Given the description of an element on the screen output the (x, y) to click on. 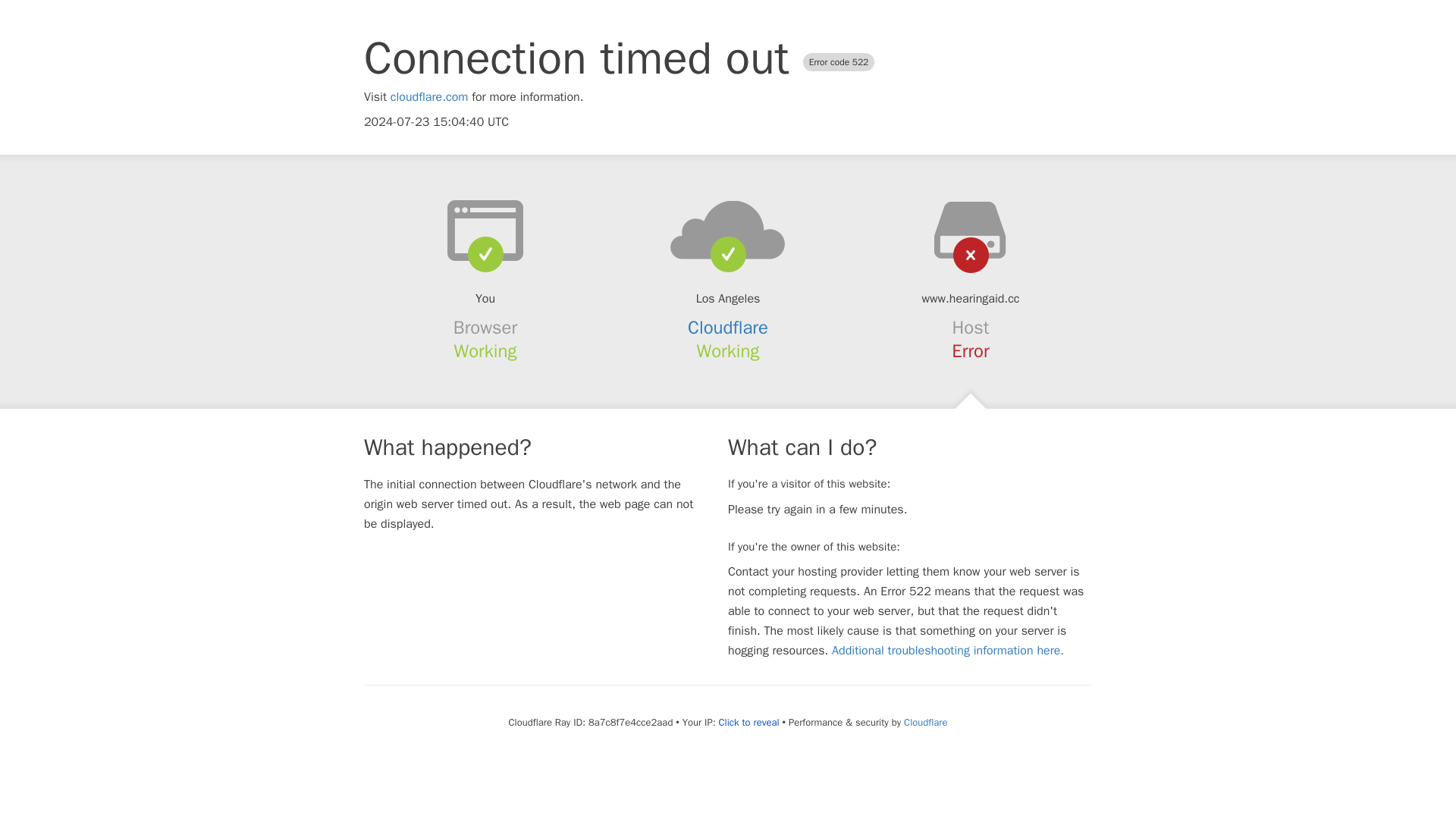
Additional troubleshooting information here. (947, 650)
Cloudflare (727, 327)
cloudflare.com (429, 96)
Click to reveal (748, 722)
Cloudflare (925, 721)
